Given the description of an element on the screen output the (x, y) to click on. 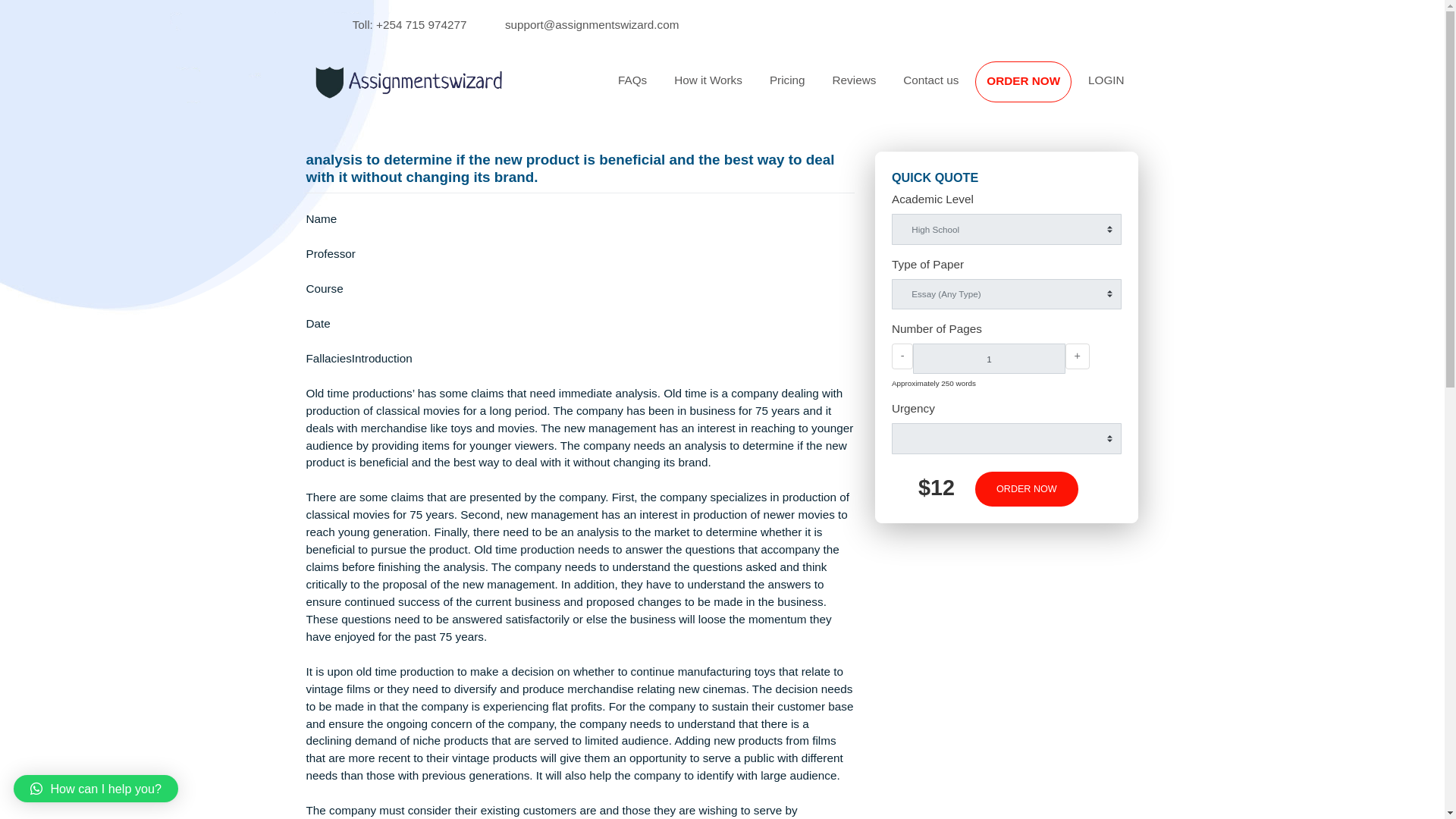
FAQs (702, 89)
How it Works (786, 89)
Reviews (948, 89)
Contact us (1034, 89)
ORDER NOW (1137, 90)
ORDER NOW (1137, 90)
1 (1098, 398)
Reviews (948, 89)
Contact us (1034, 89)
FAQs (702, 89)
Pricing (875, 89)
ORDER NOW (1140, 542)
How it Works (786, 89)
Pricing (875, 89)
LOGIN (1229, 89)
